Given the description of an element on the screen output the (x, y) to click on. 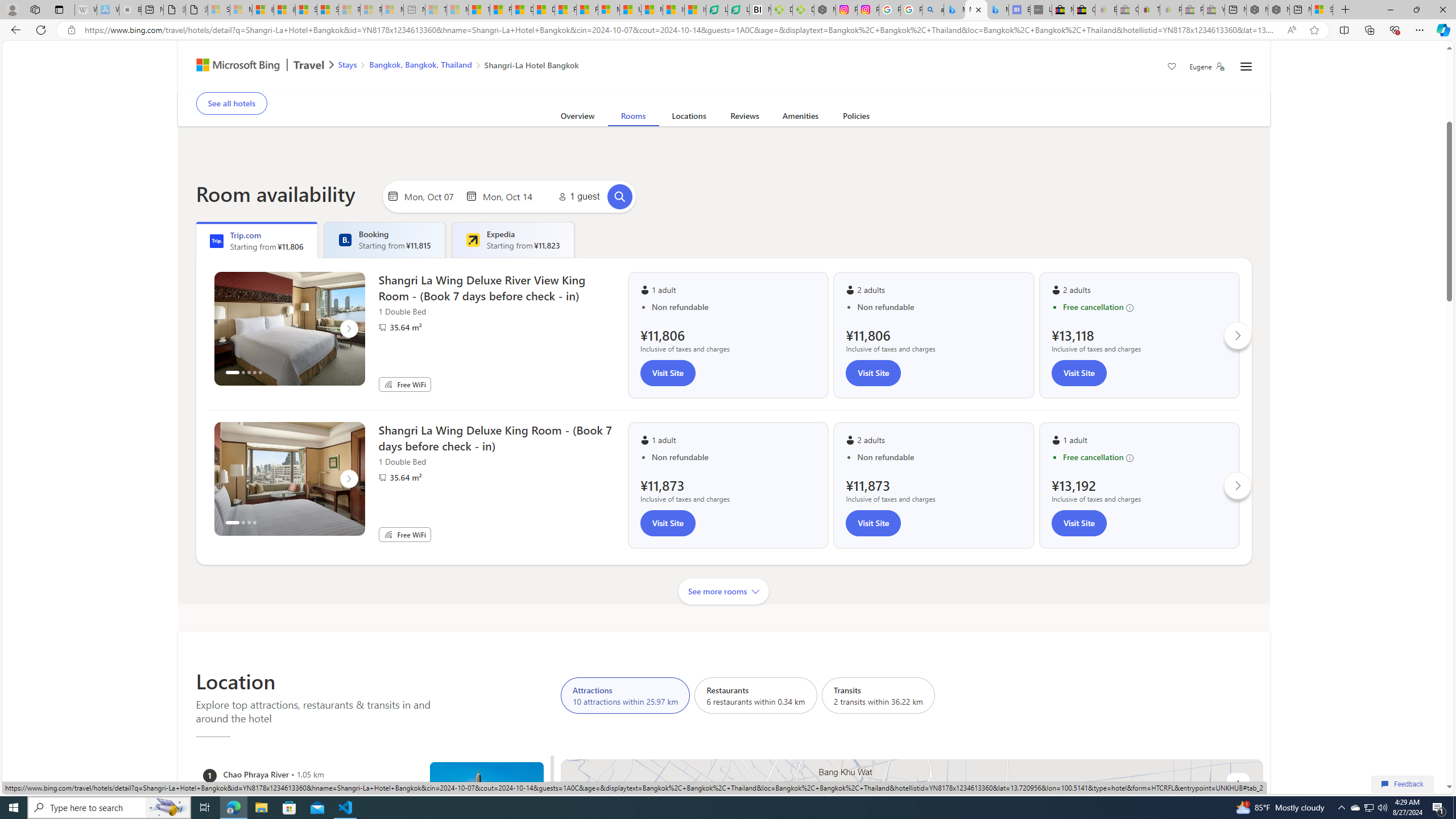
Free WiFi (387, 533)
Free cancellation (1144, 457)
AutomationID: bread-crumb-root (451, 66)
Foo BAR | Trusted Community Engagement and Contributions (587, 9)
Save (1171, 67)
Expedia (472, 239)
